Given the description of an element on the screen output the (x, y) to click on. 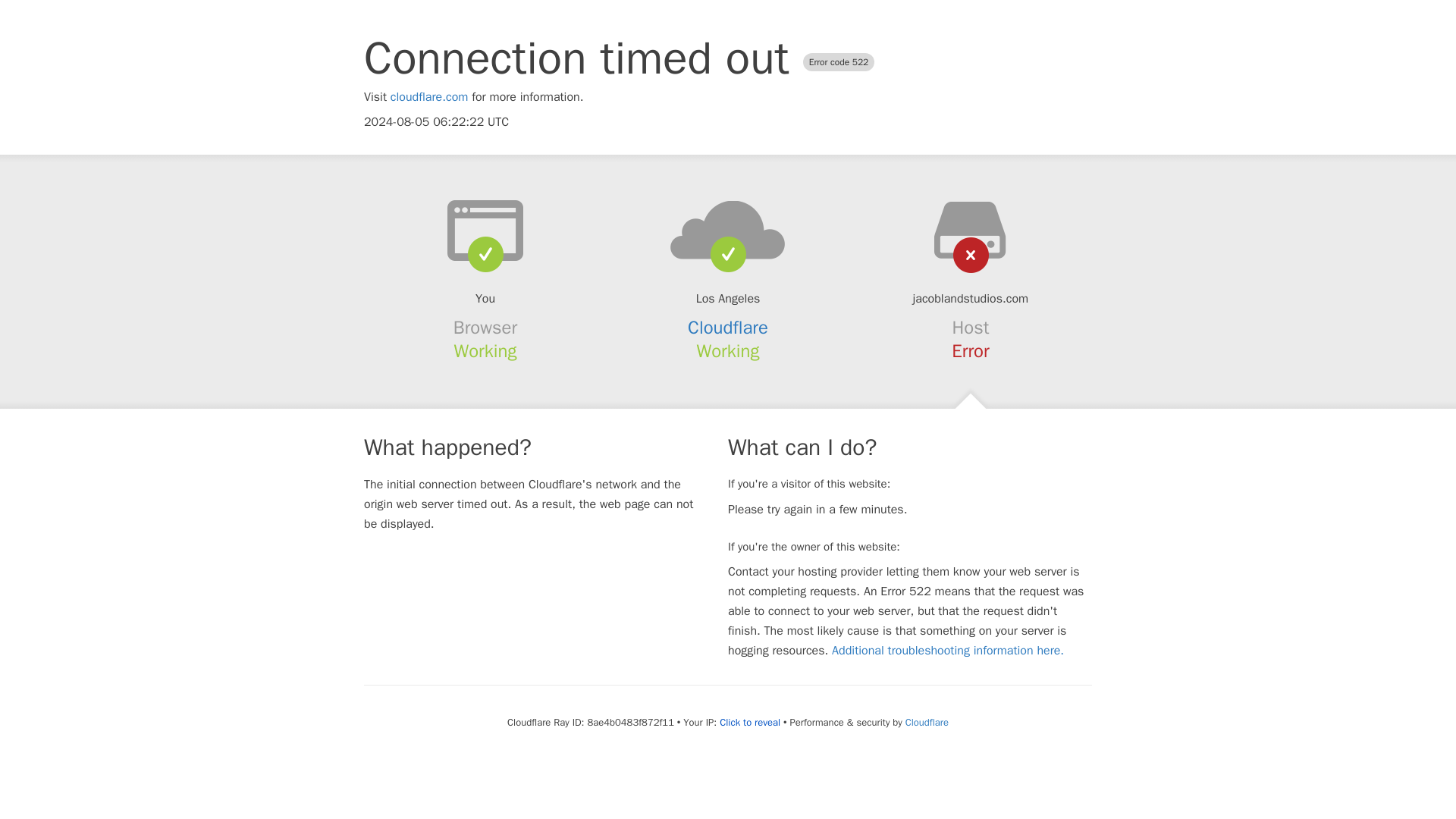
Click to reveal (749, 722)
Cloudflare (927, 721)
cloudflare.com (429, 96)
Cloudflare (727, 327)
Additional troubleshooting information here. (947, 650)
